Given the description of an element on the screen output the (x, y) to click on. 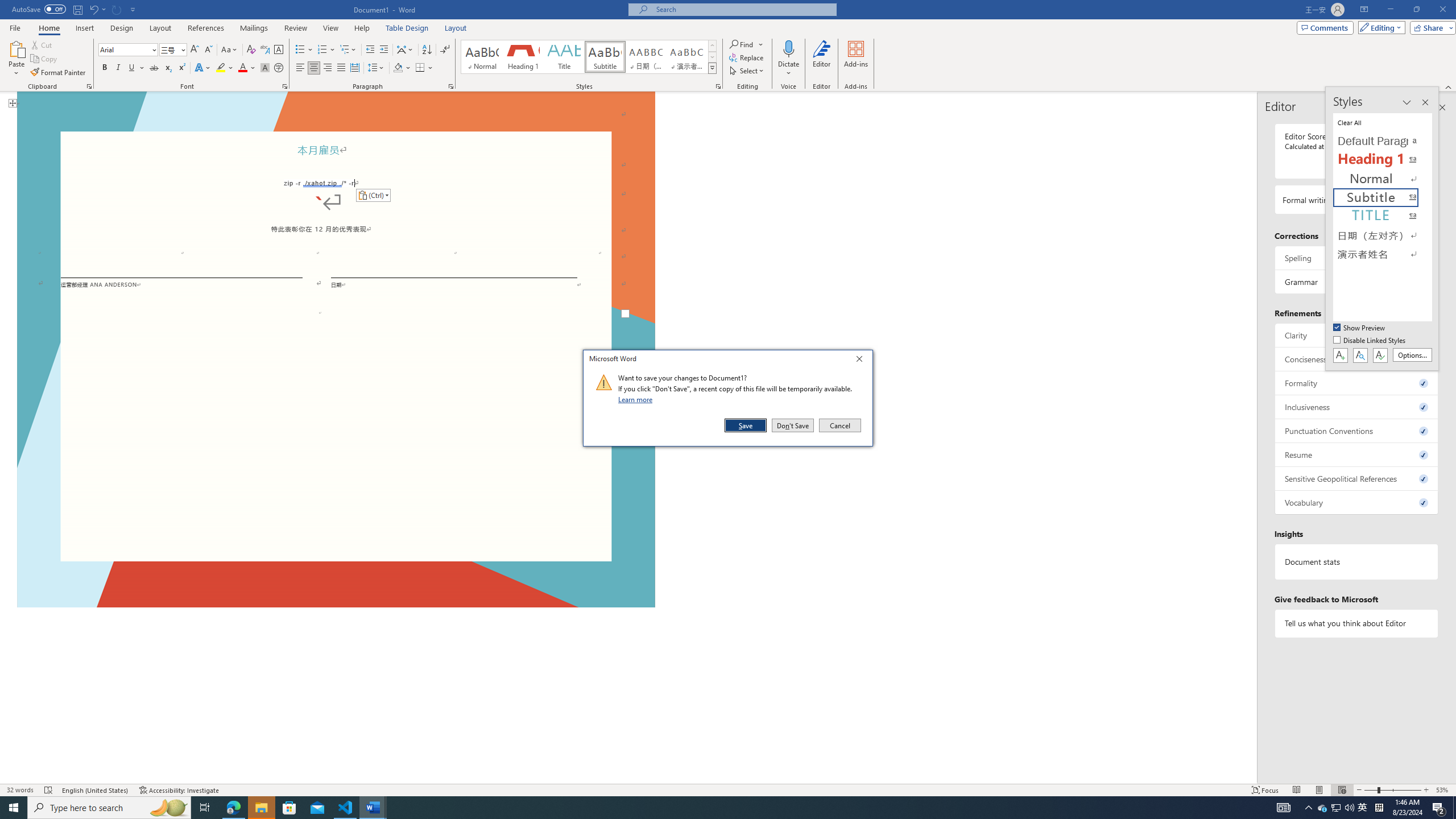
Clarity, 0 issues. Press space or enter to review items. (1356, 335)
Don't Save (792, 425)
Resume, 0 issues. Press space or enter to review items. (1356, 454)
